Given the description of an element on the screen output the (x, y) to click on. 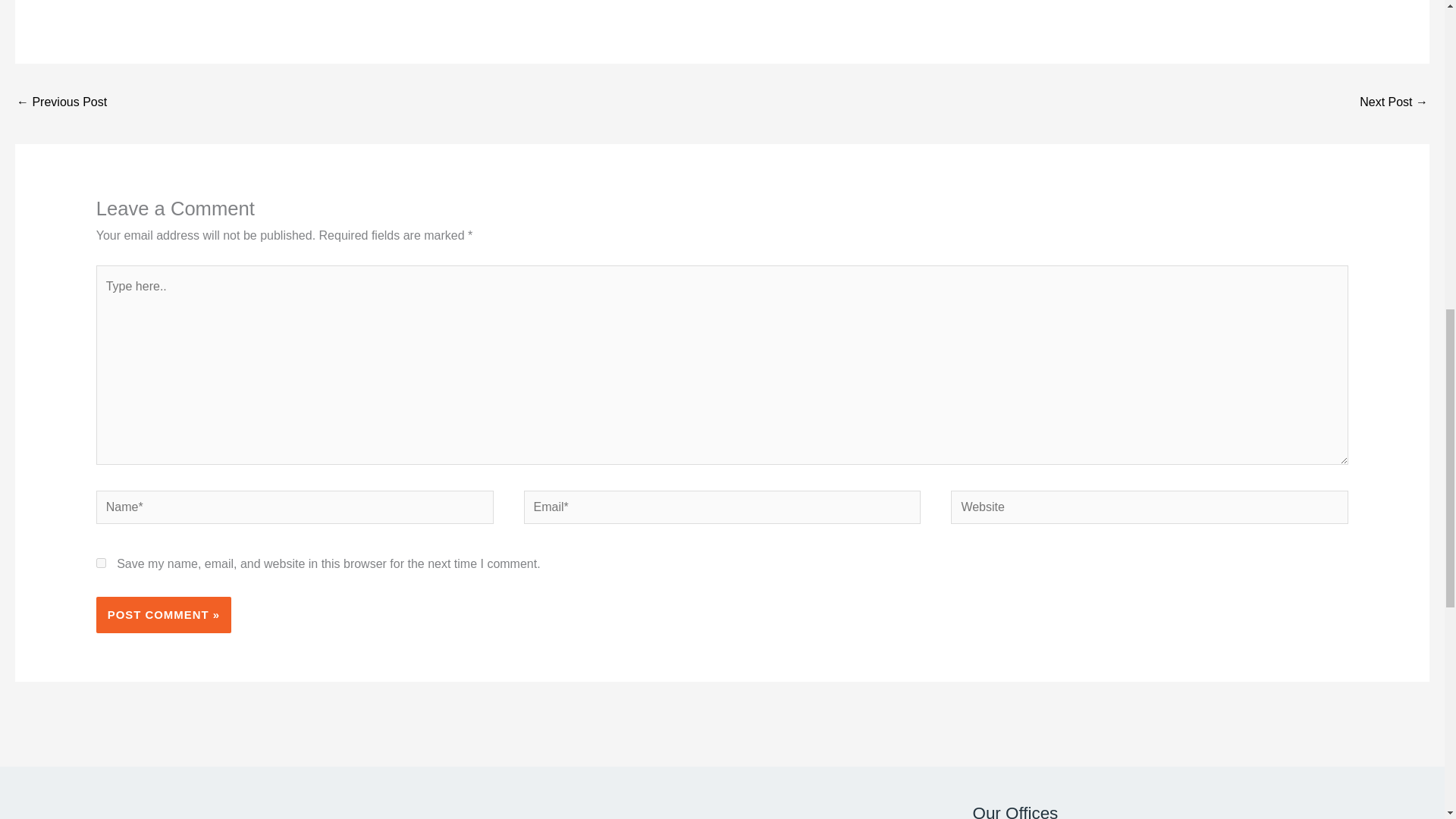
yes (101, 562)
